Given the description of an element on the screen output the (x, y) to click on. 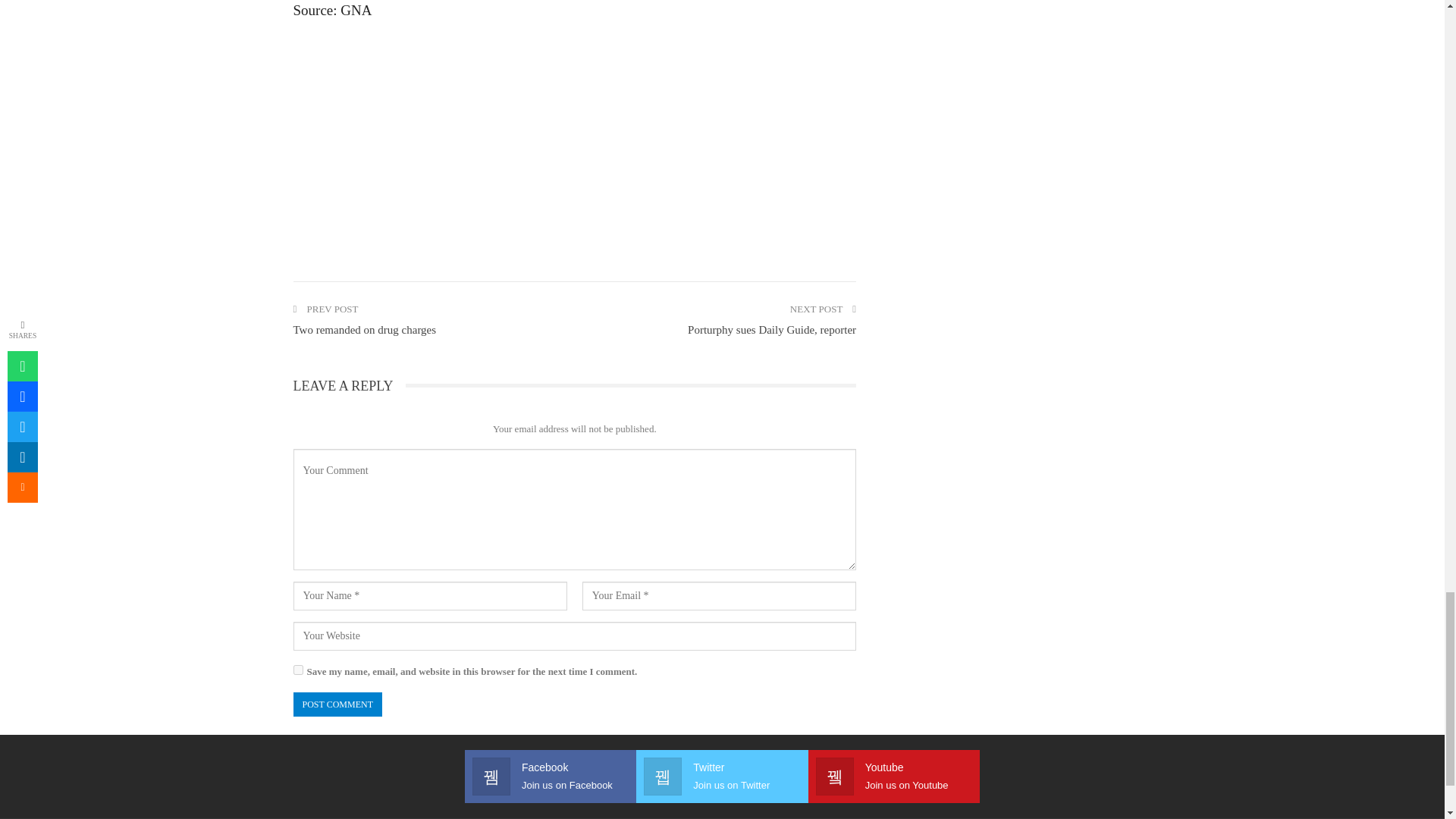
Post Comment (336, 703)
Porturphy sues Daily Guide, reporter (771, 329)
yes (297, 669)
Advertisement (574, 142)
Two remanded on drug charges (363, 329)
